Given the description of an element on the screen output the (x, y) to click on. 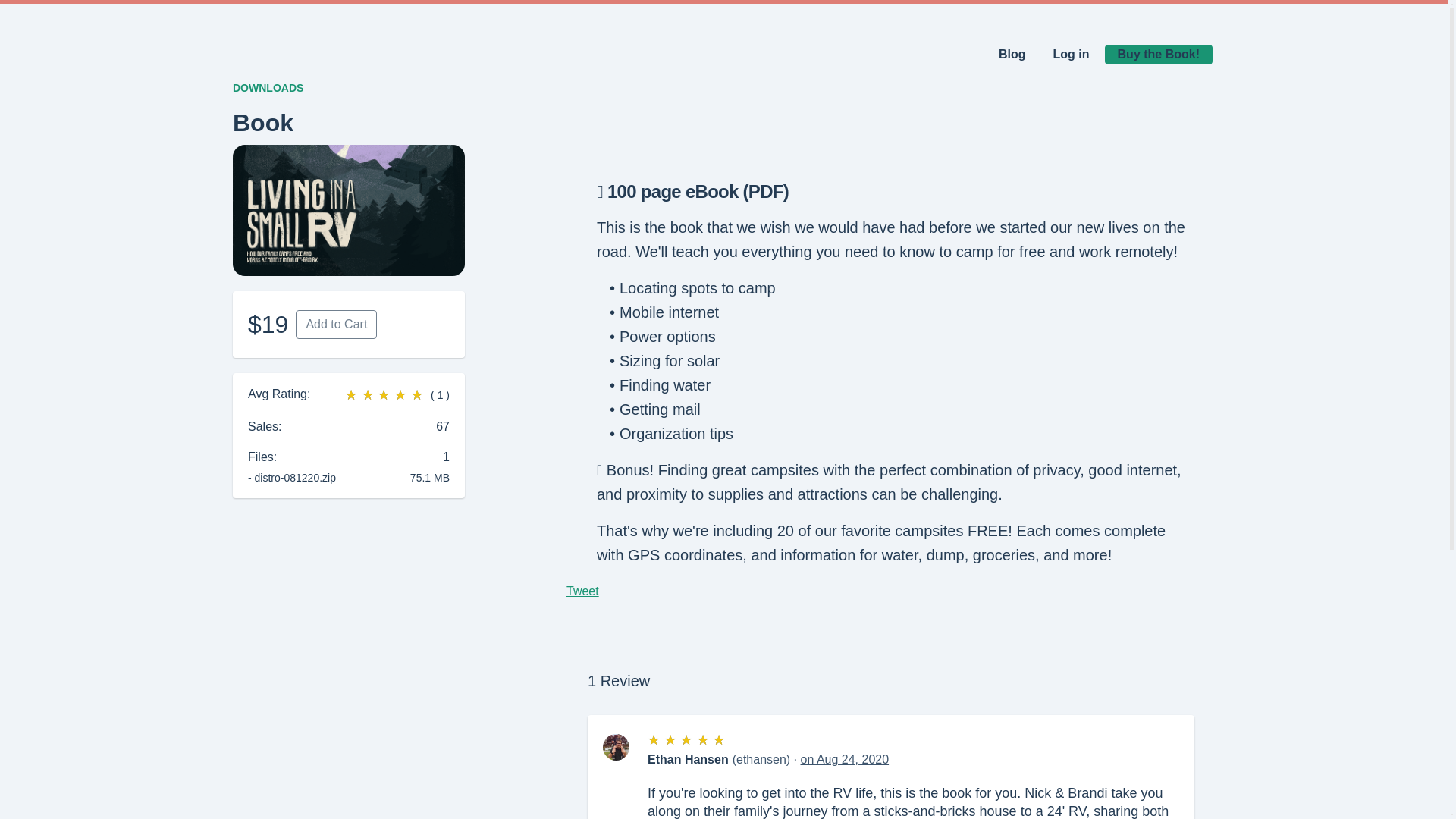
Blog (1012, 54)
Add to Cart (336, 324)
Log in (1071, 54)
Add to Cart (336, 324)
Buy the Book! (1158, 54)
DOWNLOADS (267, 88)
August 24, 2020 at 8:52pm  (844, 758)
on Aug 24, 2020 (844, 758)
Tweet (582, 590)
